Given the description of an element on the screen output the (x, y) to click on. 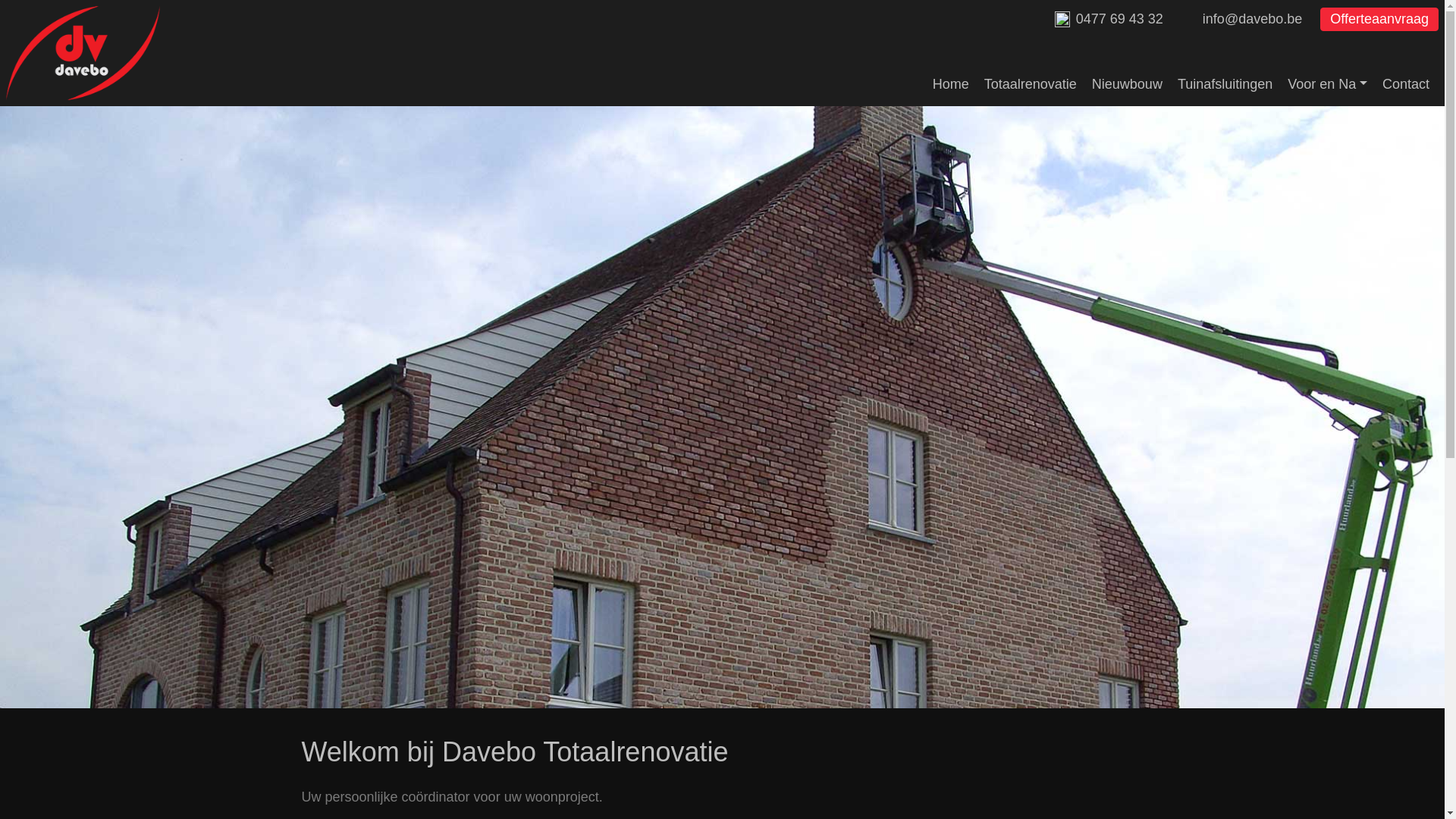
Nieuwbouw Element type: text (1134, 76)
Home Element type: text (958, 76)
Offerteaanvraag Element type: text (1379, 19)
0477 69 43 32 Element type: text (1119, 18)
Voor en Na Element type: text (1334, 76)
Tuinafsluitingen Element type: text (1232, 76)
info@davebo.be Element type: text (1252, 18)
Totaalrenovatie Element type: text (1038, 76)
Contact Element type: text (1413, 76)
